Given the description of an element on the screen output the (x, y) to click on. 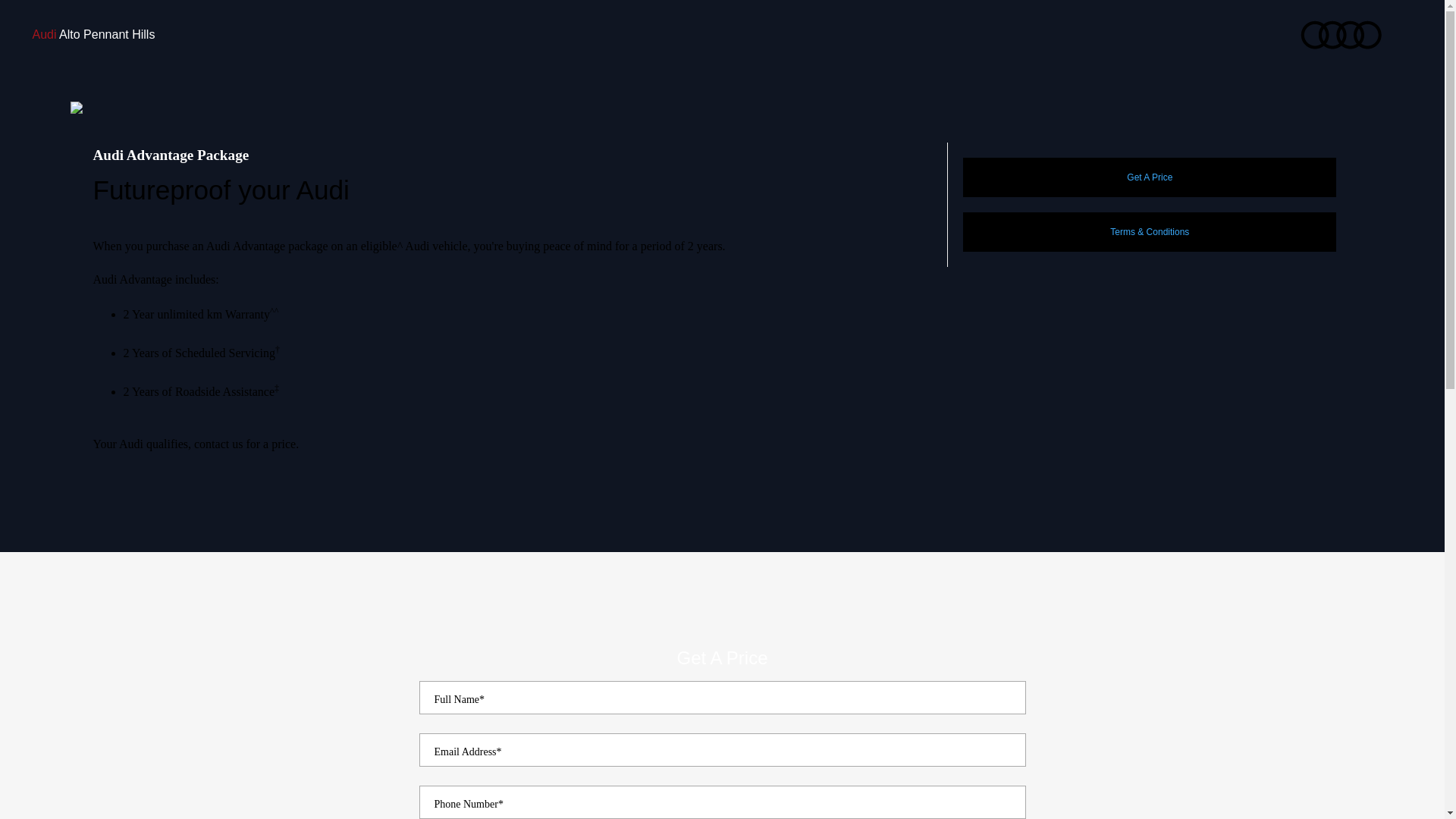
Get A Price (1149, 177)
